Given the description of an element on the screen output the (x, y) to click on. 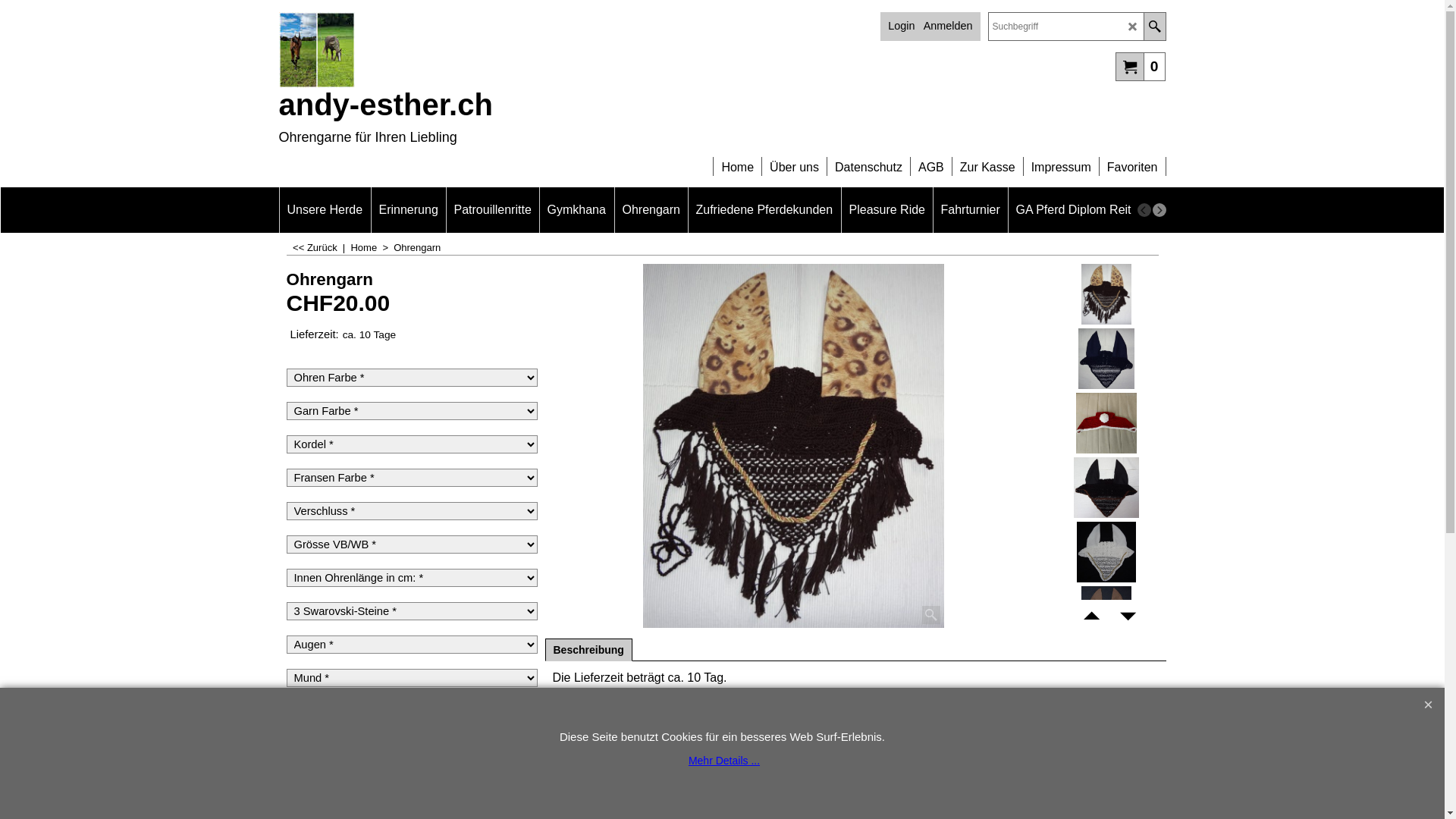
Pommel_IMAG2978 Element type: hover (1106, 422)
Favoriten Element type: text (1132, 159)
GA Pferd Diplom Reiten Element type: text (1080, 209)
Pommel *
Pommel: Kein
Pommel: Ja Element type: text (411, 744)
Home  >  Element type: text (371, 247)
AGB Element type: text (930, 159)
Impressum Element type: text (1060, 159)
Fahrturnier Element type: text (969, 209)
Cachou_Manni Element type: hover (316, 49)
Unsere Herde Element type: text (324, 209)
Anmelden Element type: text (947, 25)
LD_CANCEL Element type: hover (1132, 26)
Suche Element type: hover (1154, 26)
Cachou_Manni Element type: hover (411, 49)
Augen *
Augen: Keine
Augen: Ja Element type: text (411, 644)
Mehr Details ... Element type: text (723, 760)
Datenschutz Element type: text (868, 159)
Ohrengarn Element type: text (411, 280)
Gymkhana Element type: text (576, 209)
Zur Kasse Element type: text (987, 159)
Ohrengarn Element type: text (650, 209)
0 Element type: text (1140, 65)
Erinnerung Element type: text (408, 209)
Home Element type: text (737, 159)
Beschreibung Element type: text (588, 649)
2017_fleo_fdb_frdb_kordelgold_dsc04345_20181007170134 Element type: hover (793, 445)
Patrouillenritte Element type: text (491, 209)
Mund *
Mund: Kein
Mund: Ja Element type: text (411, 677)
Zufriedene Pferdekunden Element type: text (764, 209)
Login Element type: text (901, 25)
Pleasure Ride Element type: text (887, 209)
Pommel_IMAG2978 Element type: hover (1105, 422)
